Given the description of an element on the screen output the (x, y) to click on. 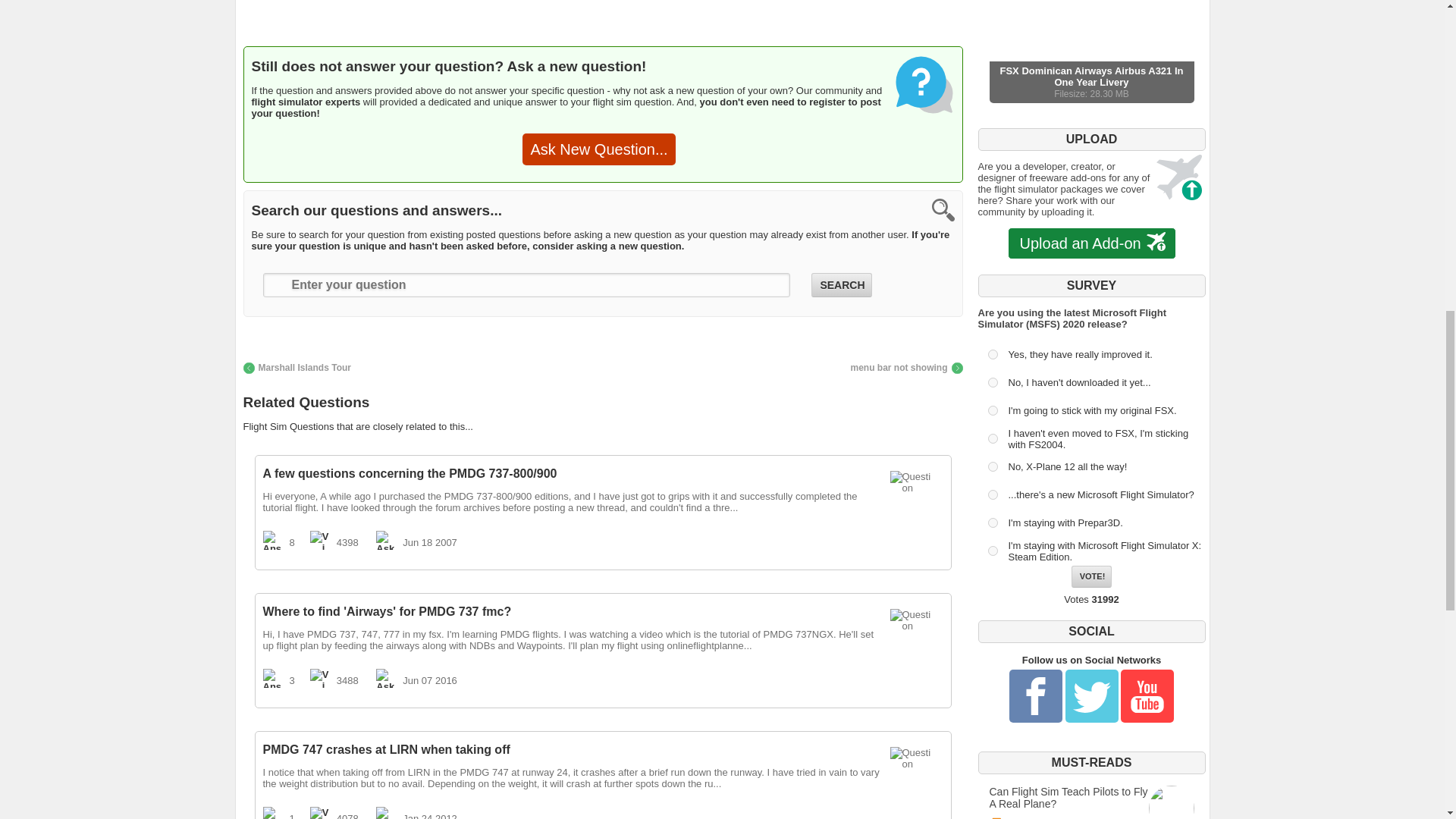
menu bar not showing (906, 367)
6 (992, 494)
Vote! (1091, 576)
Number of views this question has had (319, 539)
4 (992, 438)
9 (992, 551)
5 (992, 466)
7 (992, 522)
Ask New Question... (598, 149)
Next Question (906, 367)
